Given the description of an element on the screen output the (x, y) to click on. 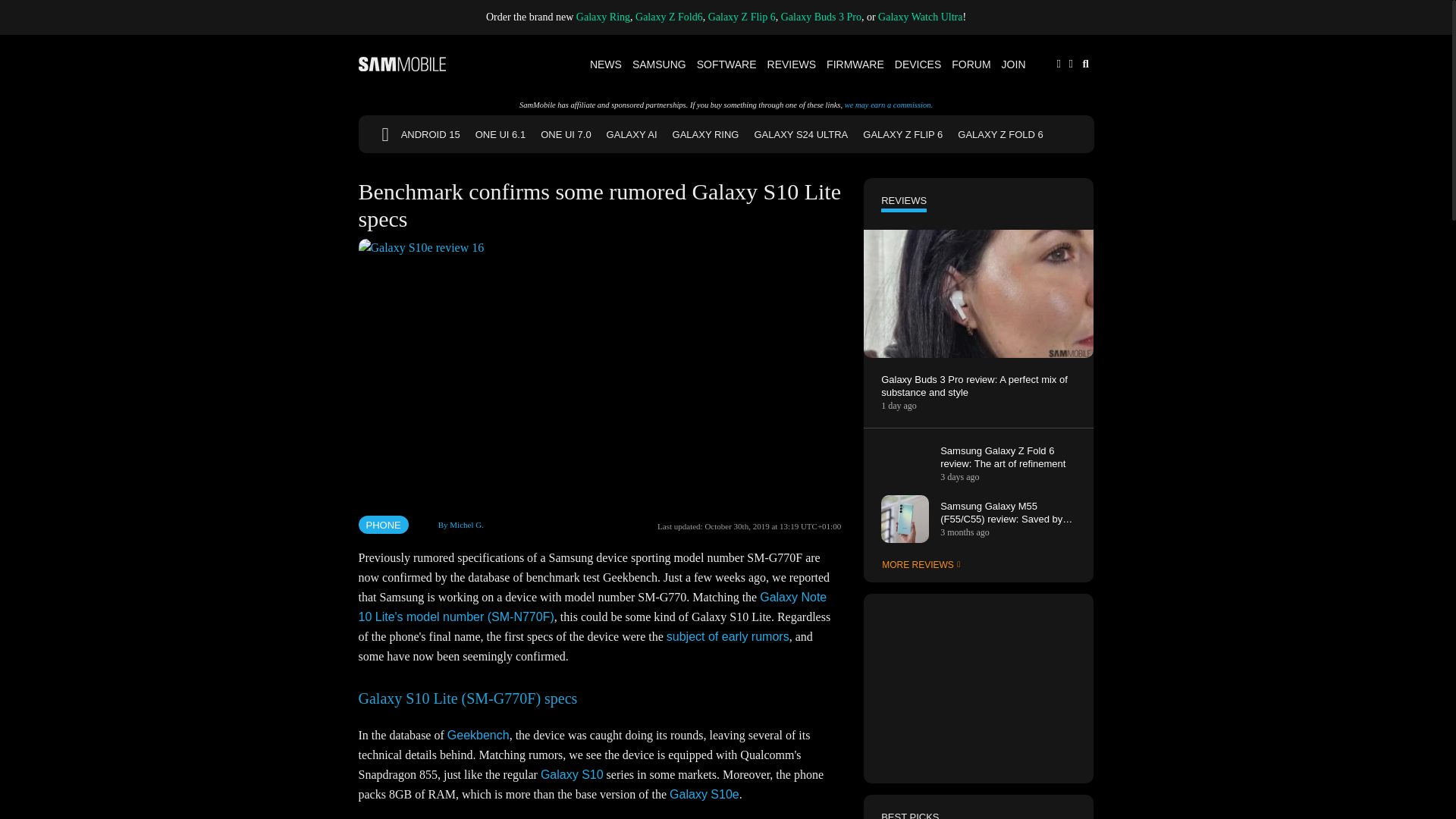
Galaxy Watch Ultra (919, 16)
SamMobile logo (401, 63)
Galaxy Buds 3 Pro (820, 16)
Galaxy Ring (603, 16)
Samsung (659, 64)
Galaxy Z Fold6 (668, 16)
Galaxy Z Flip 6 (741, 16)
SAMSUNG (659, 64)
